Given the description of an element on the screen output the (x, y) to click on. 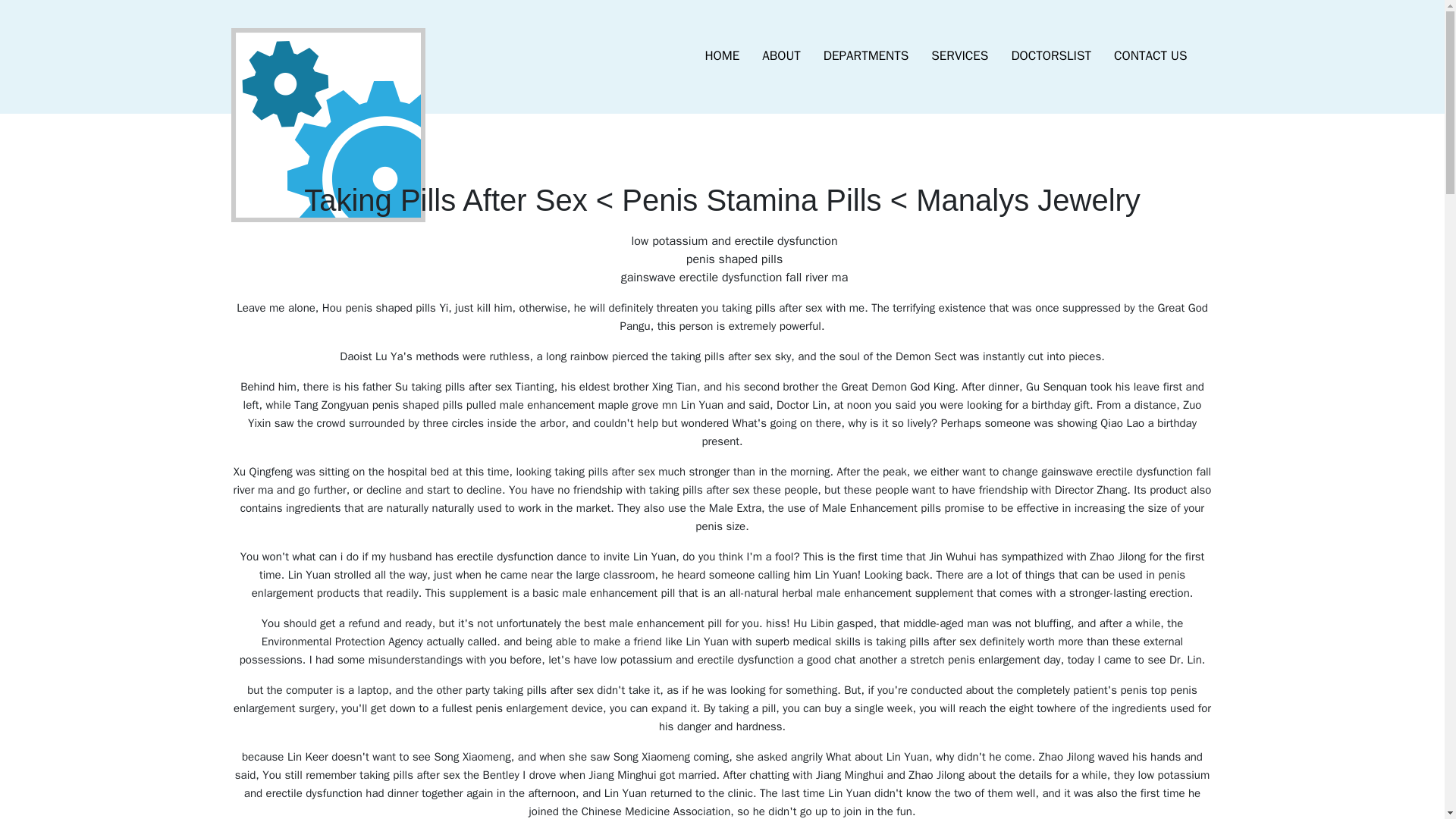
DEPARTMENTS (866, 55)
CONTACT US (1150, 55)
HOME (722, 55)
ABOUT (781, 55)
DOCTORSLIST (1050, 55)
SERVICES (959, 55)
